Given the description of an element on the screen output the (x, y) to click on. 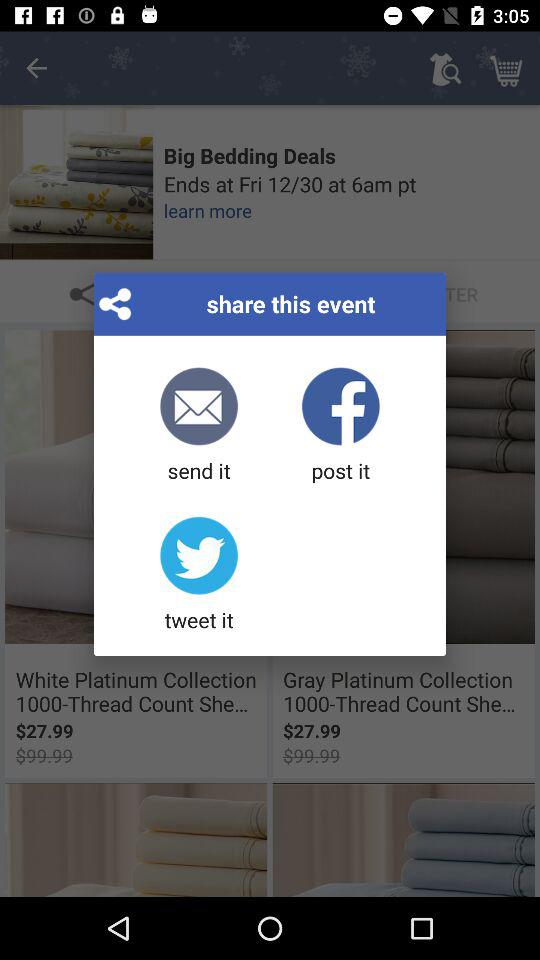
select the item next to post it icon (198, 425)
